Given the description of an element on the screen output the (x, y) to click on. 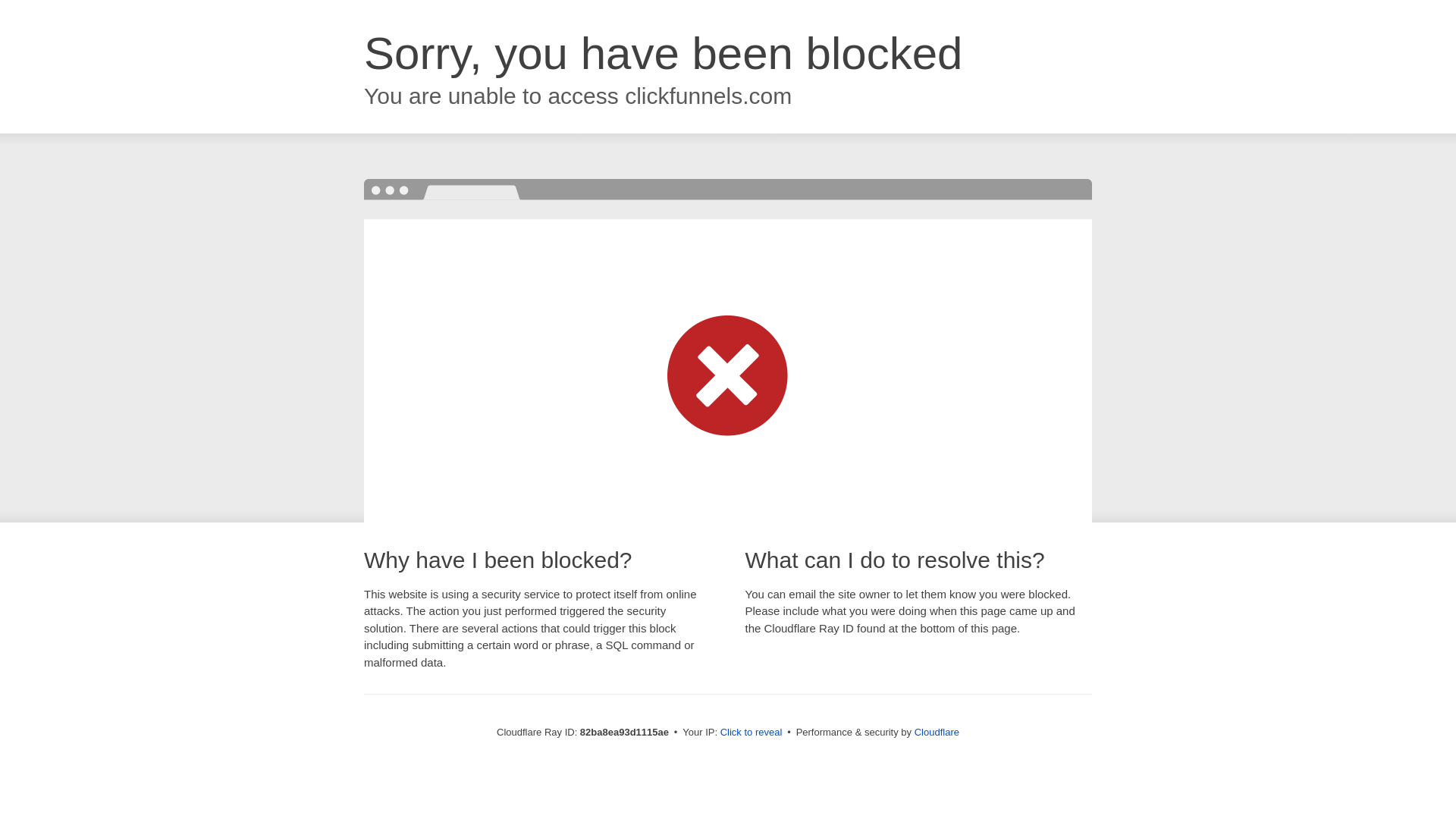
Click to reveal Element type: text (751, 732)
Cloudflare Element type: text (936, 731)
